Given the description of an element on the screen output the (x, y) to click on. 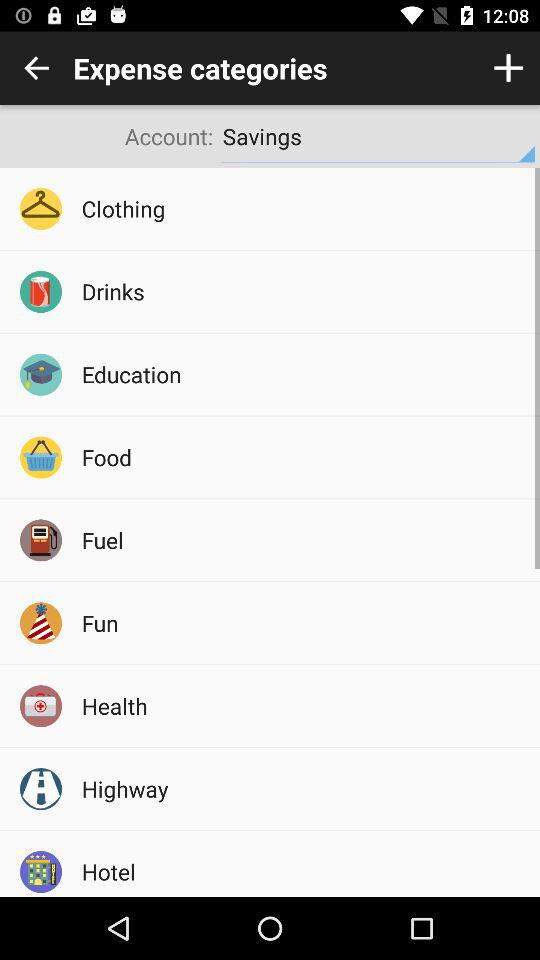
choose the item next to expense categories item (508, 67)
